Given the description of an element on the screen output the (x, y) to click on. 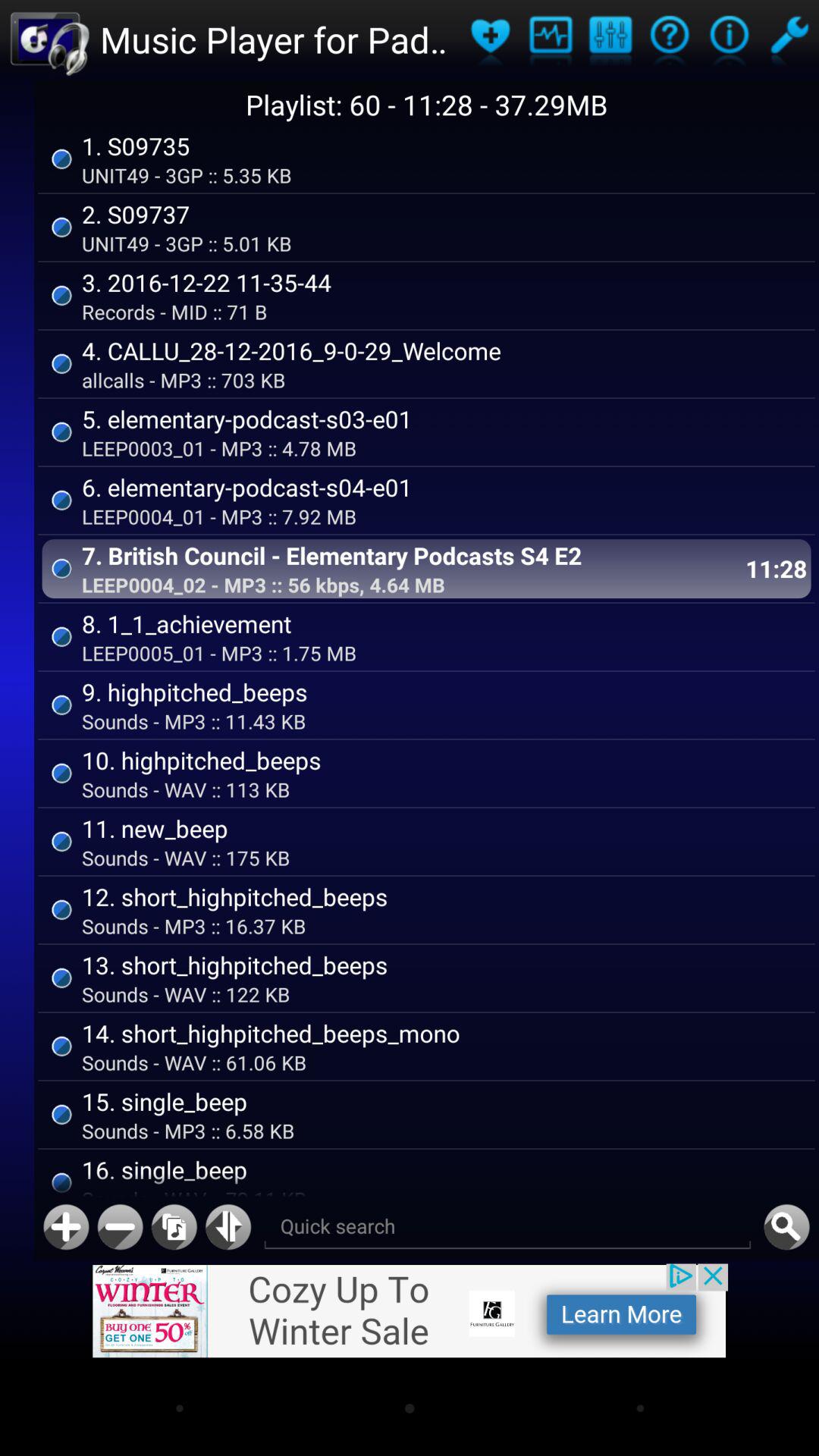
zoom out icon (120, 1226)
